Given the description of an element on the screen output the (x, y) to click on. 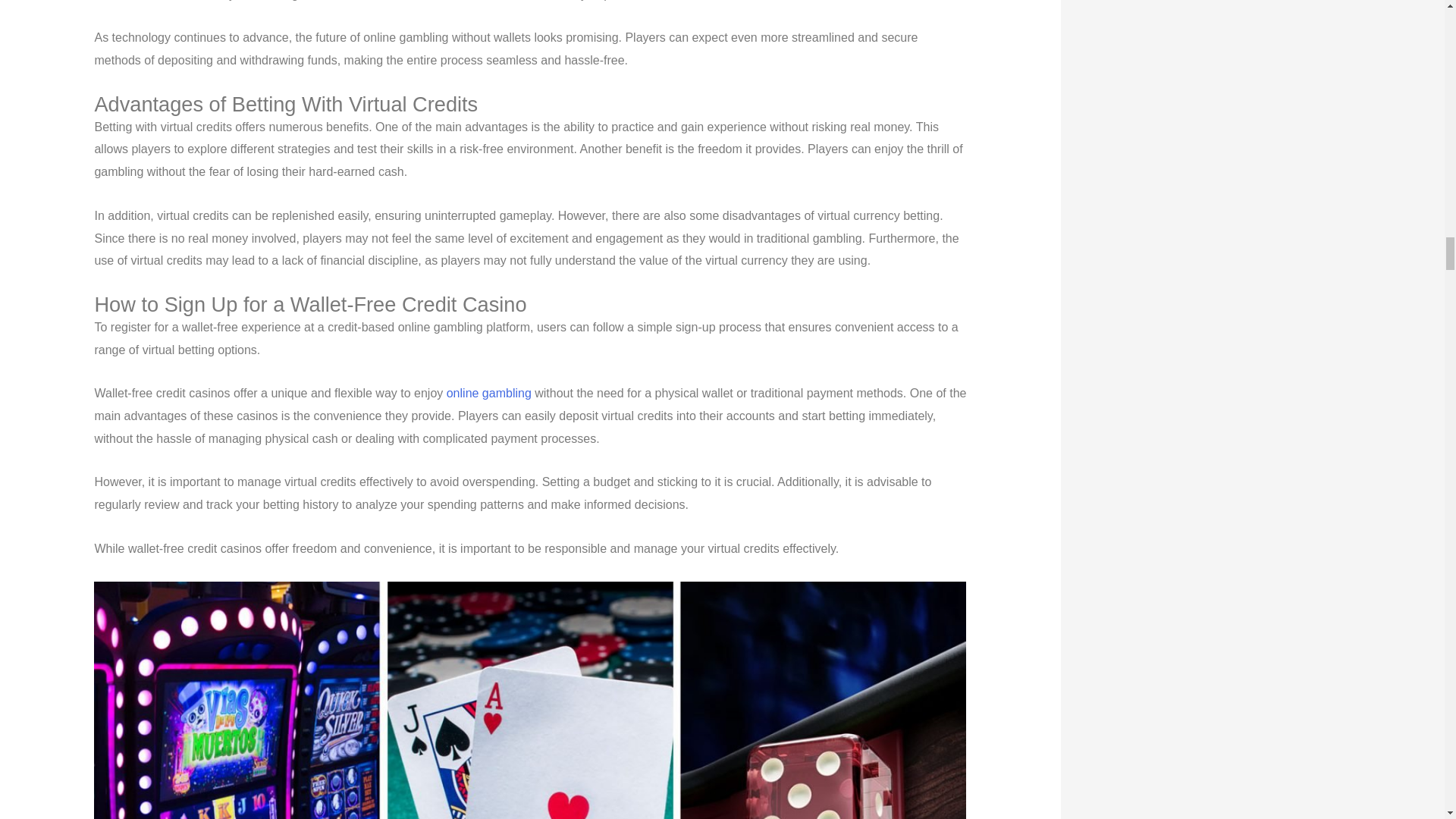
online gambling (488, 392)
